Given the description of an element on the screen output the (x, y) to click on. 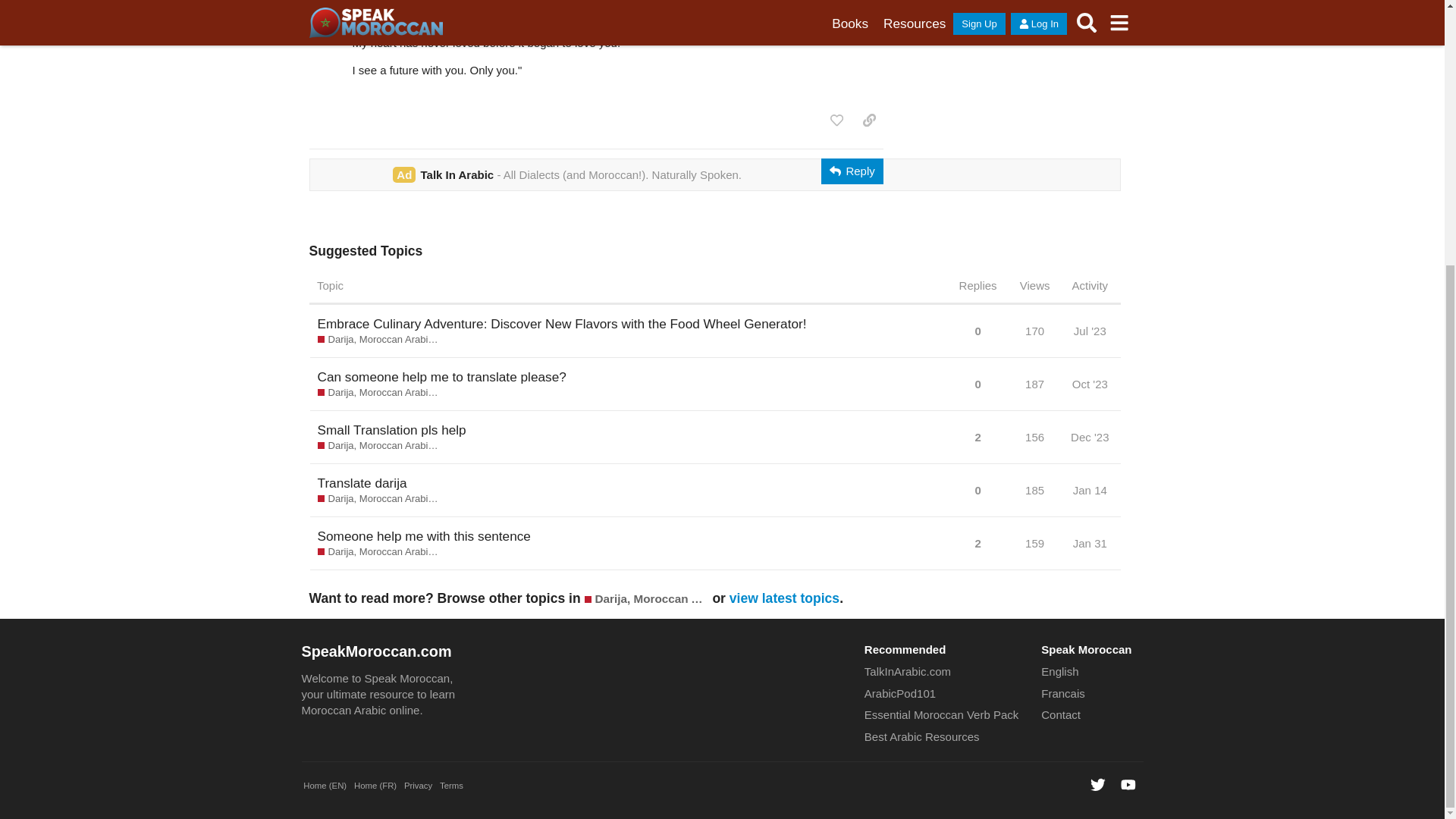
Oct '23 (1090, 384)
Darija, Moroccan Arabic Forums - Forums de darija, (647, 599)
Jul '23 (1089, 330)
This topic has 0 replies (977, 383)
Jan 14 (1089, 489)
this topic has been viewed 187 times (1034, 383)
Darija, Moroccan Arabic Forums - Forums de darija, (379, 499)
This topic has 0 replies (977, 330)
Dec '23 (1089, 437)
Translate darija (361, 483)
Someone help me with this sentence (423, 535)
Darija, Moroccan Arabic Forums - Forums de darija, (379, 551)
Can someone help me to translate please? (441, 376)
Jan 31 (1089, 543)
